Given the description of an element on the screen output the (x, y) to click on. 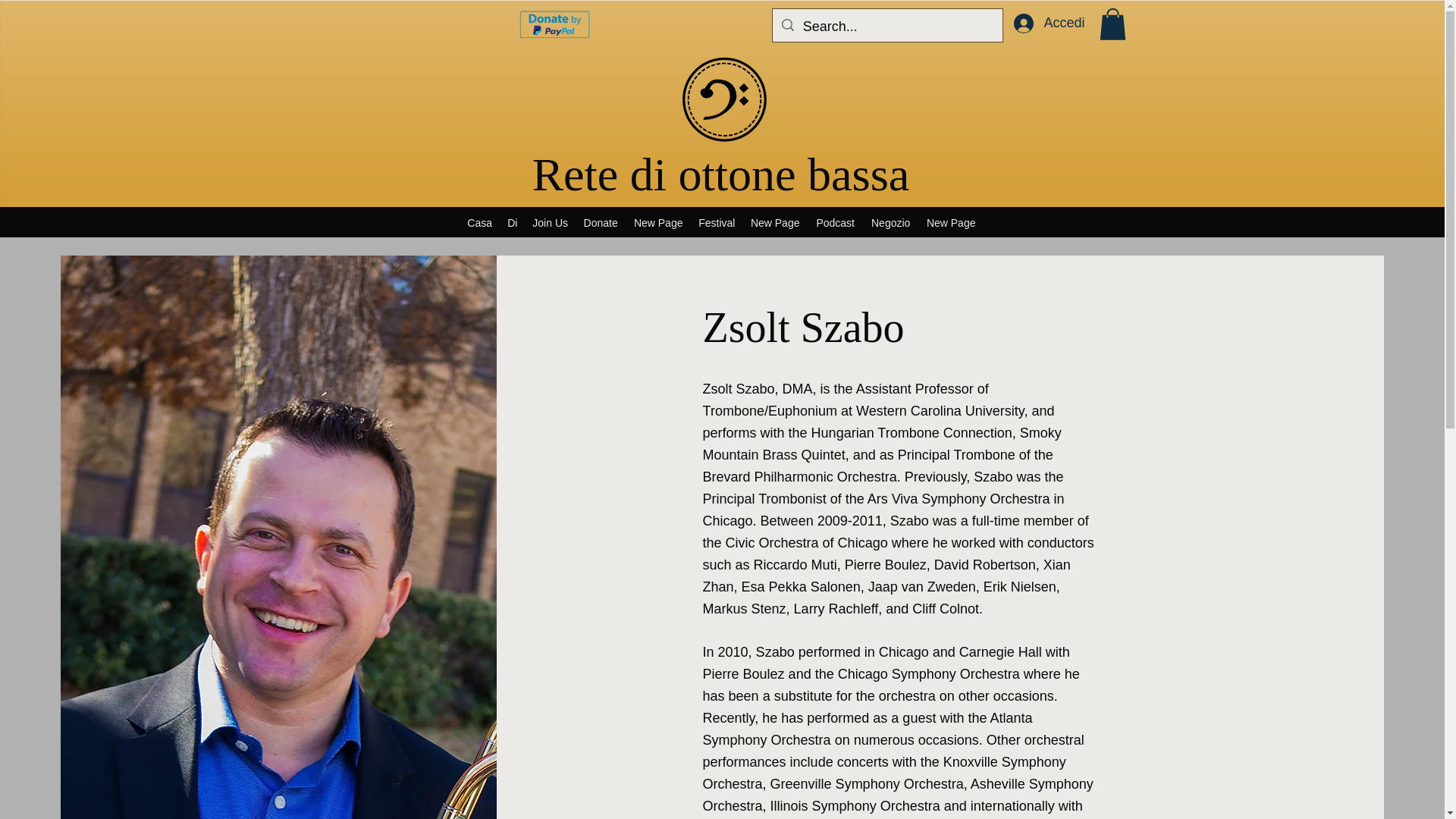
Casa (479, 222)
Accedi (1048, 23)
New Page (775, 222)
Di (511, 222)
New Page (658, 222)
Negozio (890, 222)
Donate (600, 222)
Join Us (549, 222)
Festival (716, 222)
New Page (951, 222)
Podcast (835, 222)
Rete di ottone bassa (721, 173)
